Given the description of an element on the screen output the (x, y) to click on. 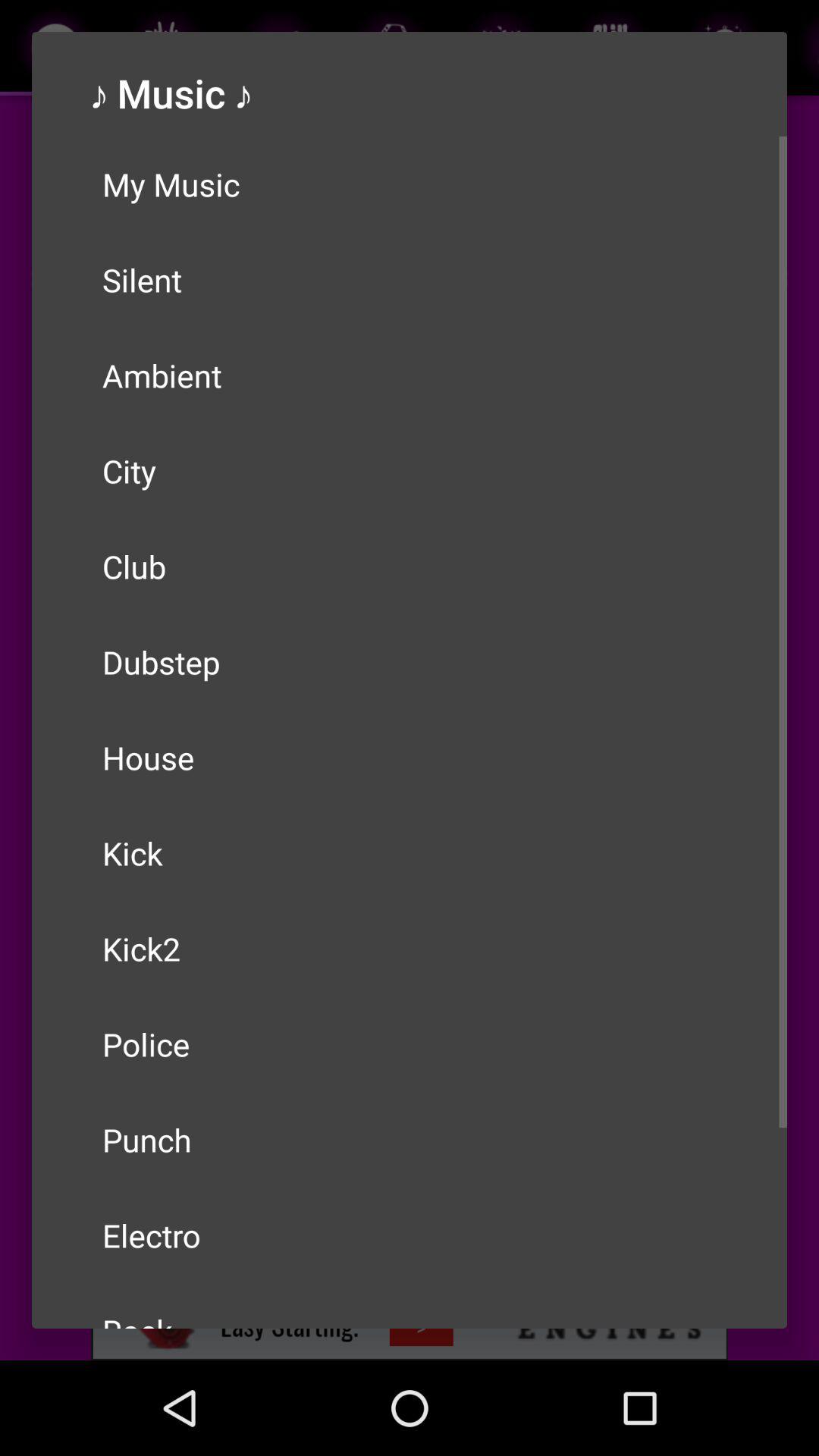
tap the 		my music icon (409, 184)
